Given the description of an element on the screen output the (x, y) to click on. 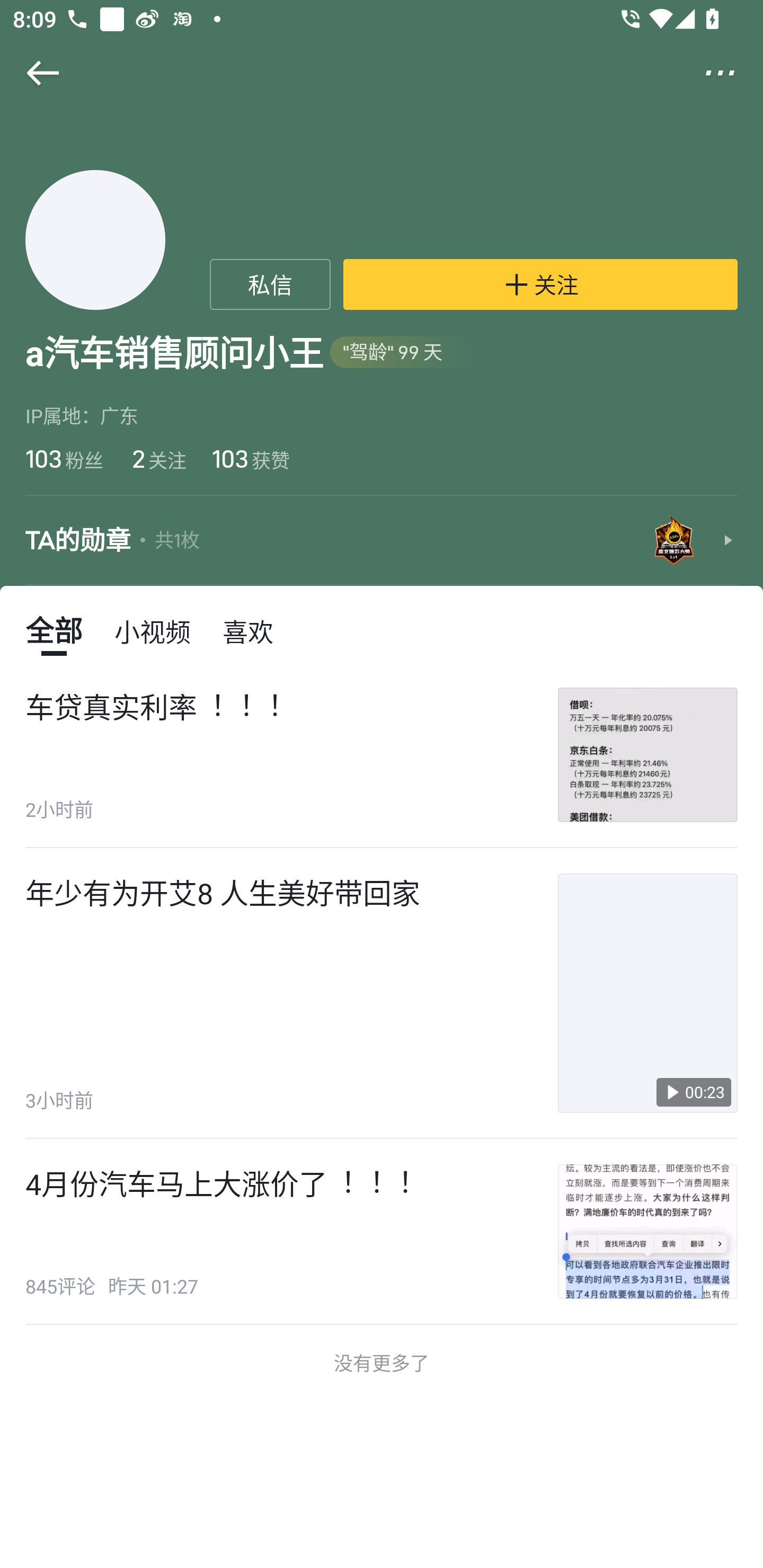
 (30, 72)
 (732, 72)
私信 (269, 284)
 关注 (540, 284)
"驾龄" 99 天 (402, 352)
103 粉丝 (64, 458)
2 关注 (157, 458)
103 获赞 (250, 458)
TA的勋章 共1枚  (381, 539)
全部 (53, 629)
小视频 (152, 629)
喜欢 (247, 629)
车贷真实利率︕︕︕ 2小时前 (381, 754)
车贷真实利率︕︕︕ (154, 706)
年少有为开艾8 人生美好带回家 3小时前  00:23 (381, 993)
年少有为开艾8 人生美好带回家 (222, 892)
4月份汽车马上大涨价了︕︕︕ 845评论 昨天 01:27 (381, 1231)
4月份汽车马上大涨价了︕︕︕ (219, 1183)
